Given the description of an element on the screen output the (x, y) to click on. 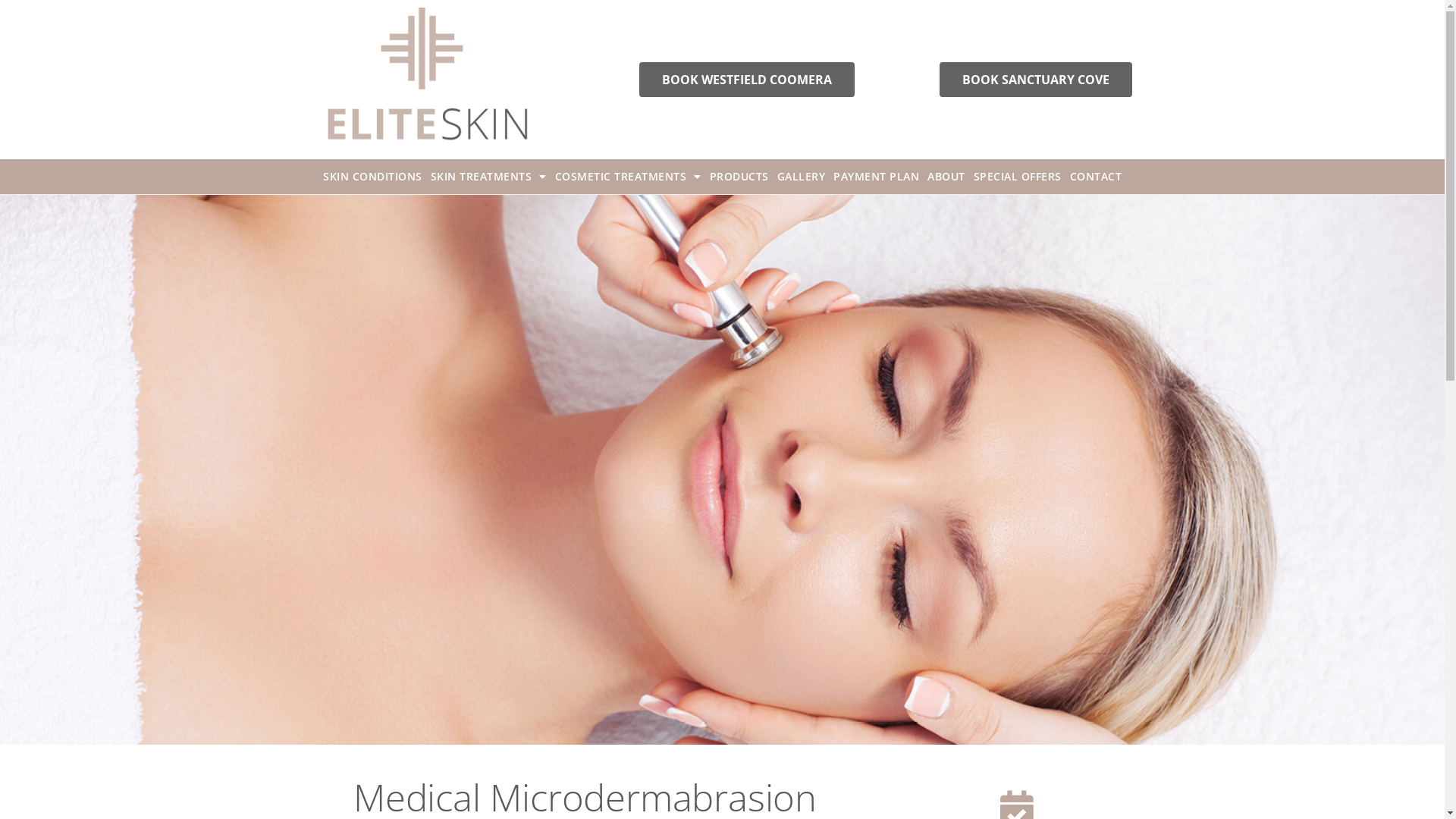
GALLERY Element type: text (801, 176)
SKIN CONDITIONS Element type: text (372, 176)
SKIN TREATMENTS Element type: text (487, 176)
PAYMENT PLAN Element type: text (875, 176)
BOOK WESTFIELD COOMERA Element type: text (746, 79)
BOOK SANCTUARY COVE Element type: text (1035, 79)
ABOUT Element type: text (946, 176)
SPECIAL OFFERS Element type: text (1016, 176)
PRODUCTS Element type: text (738, 176)
CONTACT Element type: text (1096, 176)
COSMETIC TREATMENTS Element type: text (627, 176)
